Given the description of an element on the screen output the (x, y) to click on. 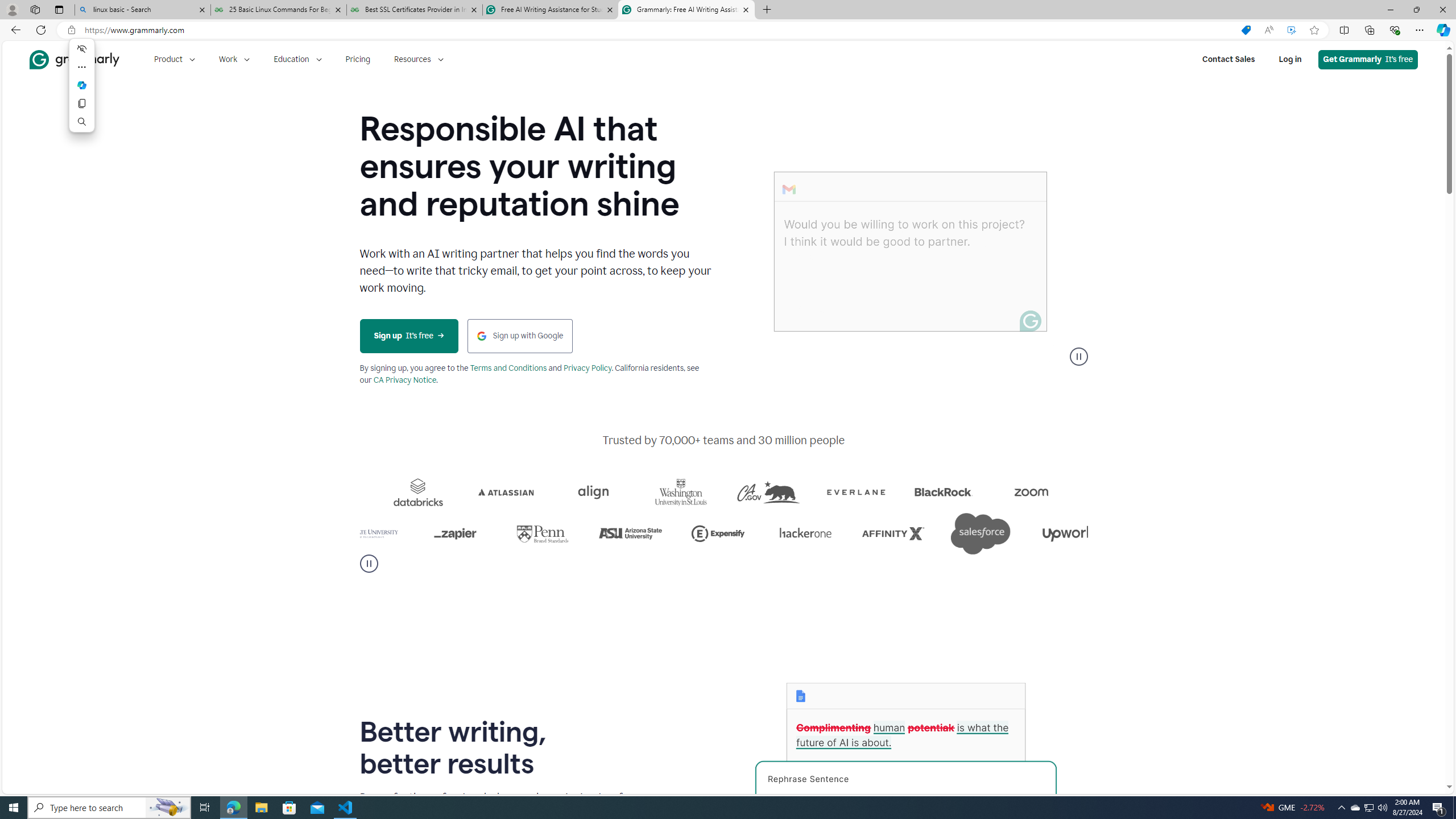
Zoom (368, 491)
Upwork (406, 533)
Grammarly Home (74, 59)
Work (234, 58)
Education (297, 58)
Terms and Conditions (508, 368)
Align (728, 491)
Expensify (853, 533)
